Given the description of an element on the screen output the (x, y) to click on. 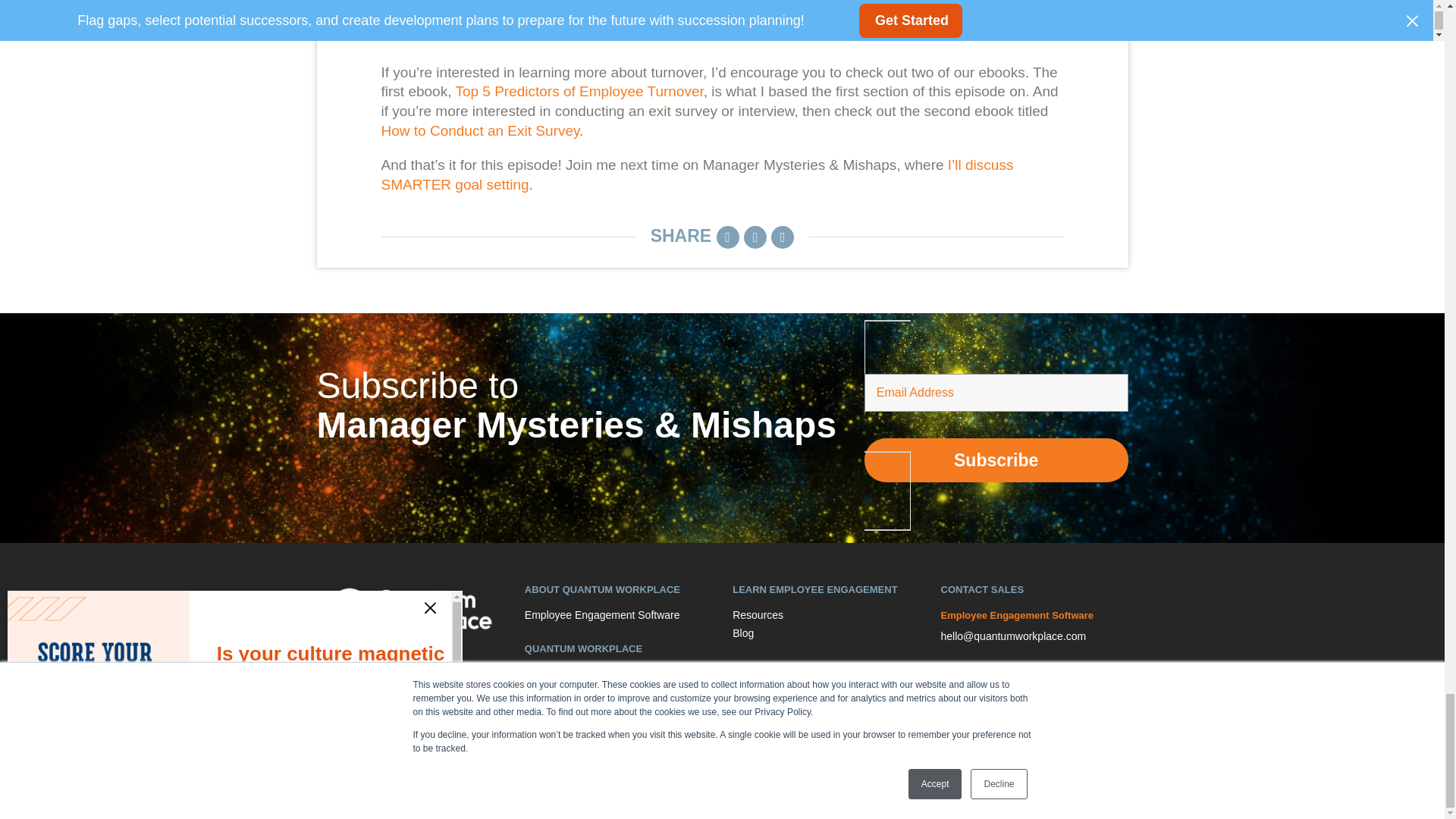
Share on LinkedIn (727, 237)
Subscribe (996, 460)
Tweet (755, 237)
Share on Facebook (782, 237)
